Given the description of an element on the screen output the (x, y) to click on. 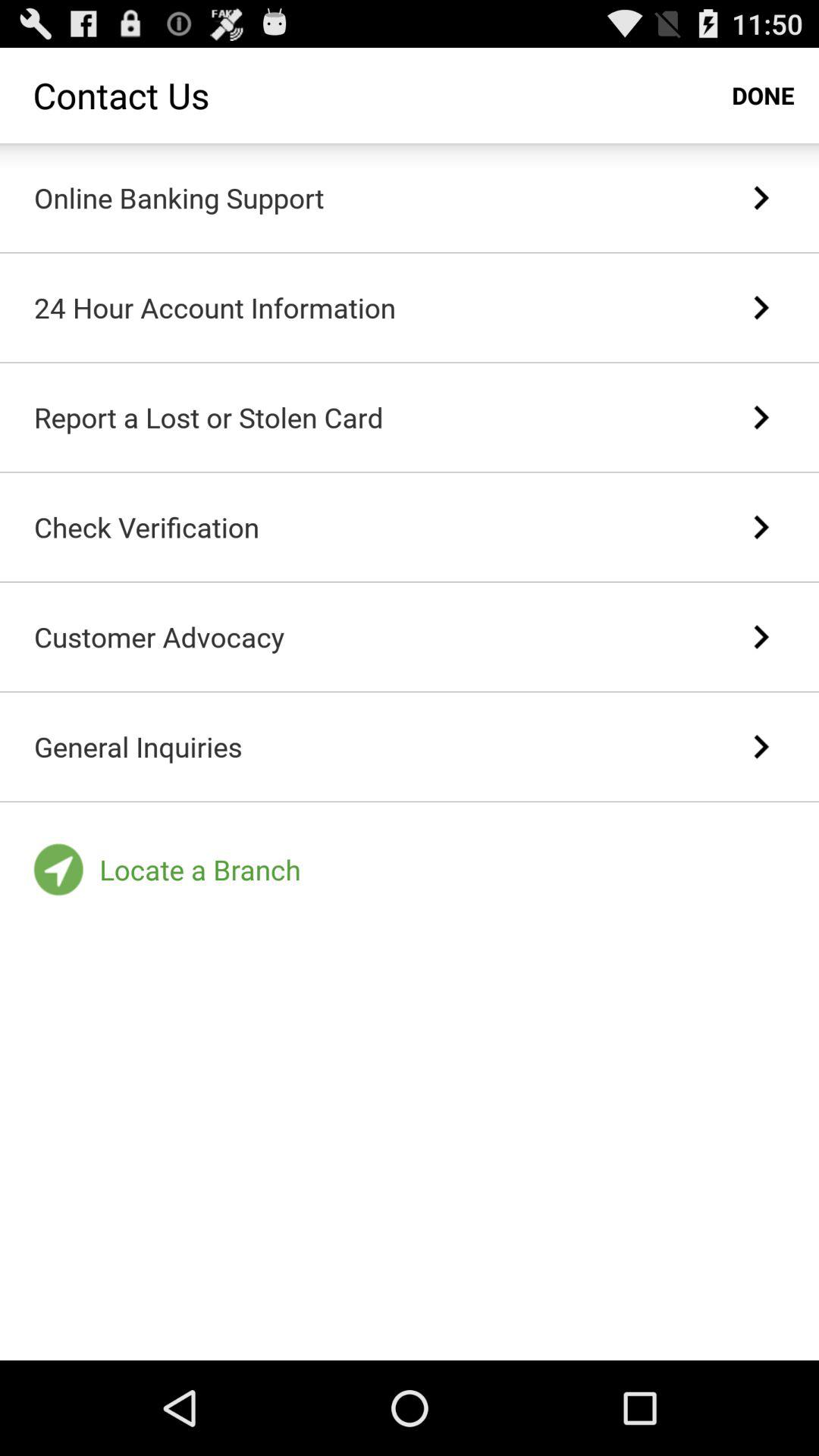
launch icon below the contact us icon (179, 197)
